Given the description of an element on the screen output the (x, y) to click on. 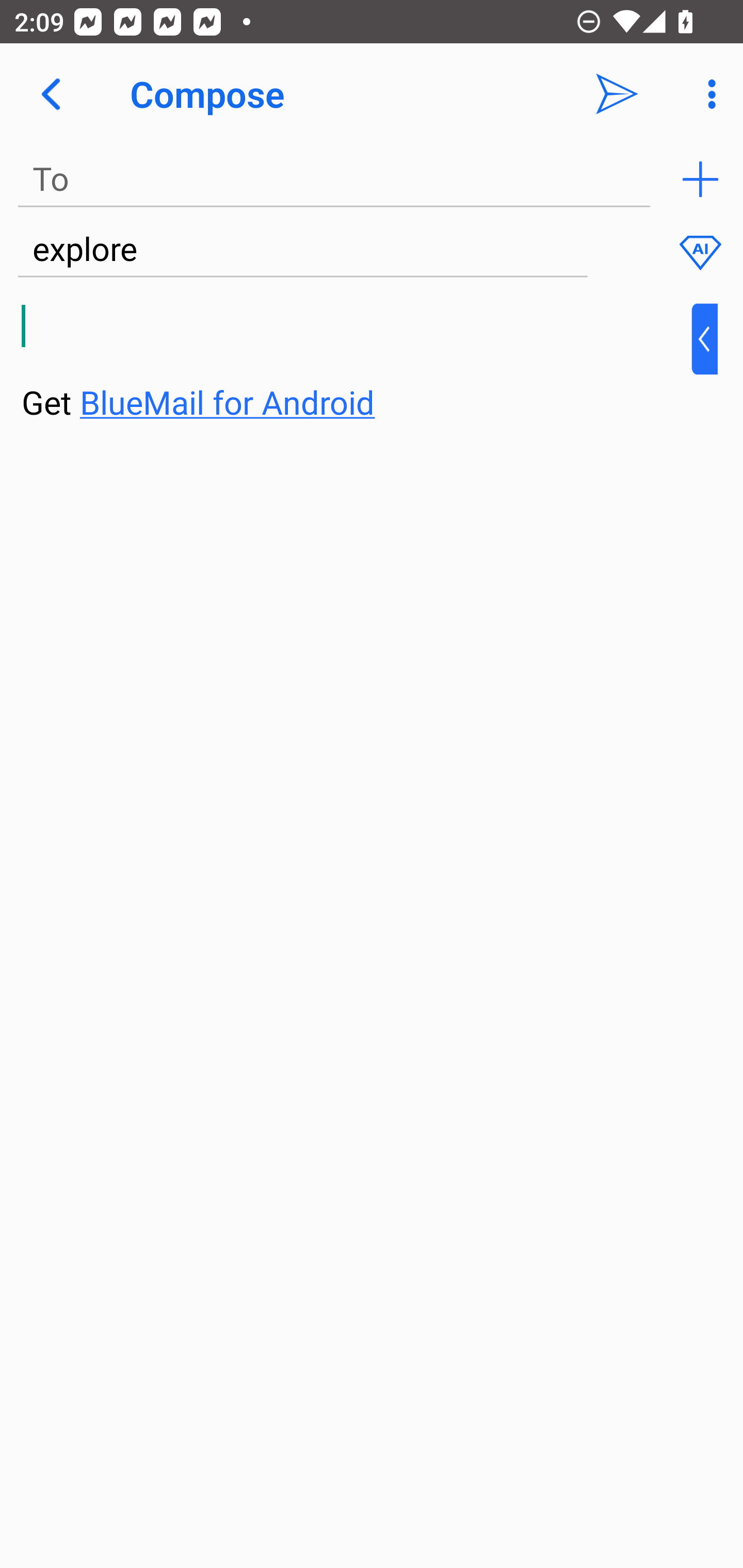
Navigate up (50, 93)
Send (616, 93)
More Options (706, 93)
To (334, 179)
Add recipient (To) (699, 179)
explore (302, 249)


⁣Get BlueMail for Android ​ (355, 363)
